Given the description of an element on the screen output the (x, y) to click on. 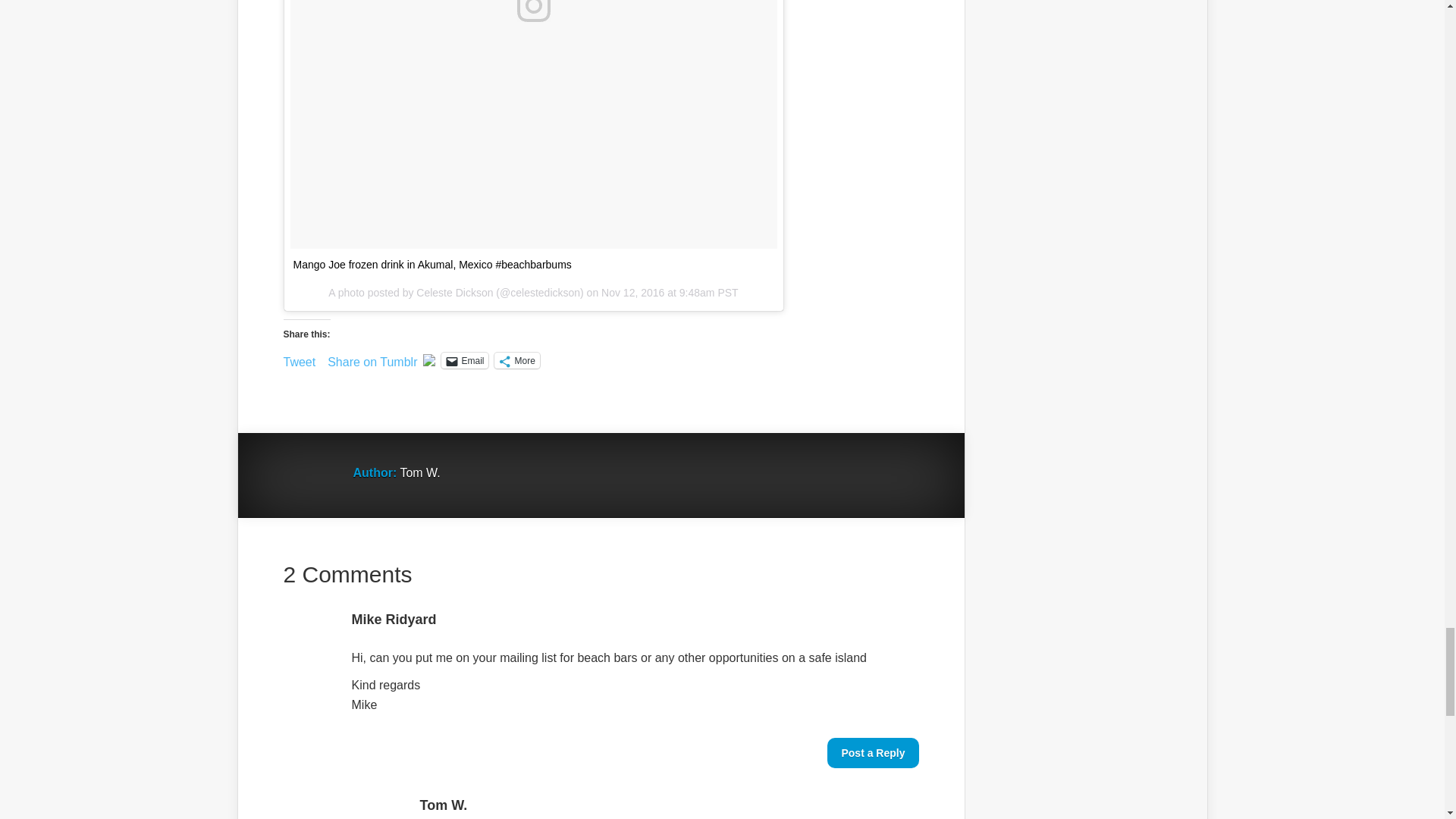
Click to email a link to a friend (464, 360)
Share on Tumblr (371, 359)
Email (464, 360)
More (516, 360)
Tweet (299, 359)
Share on Tumblr (371, 359)
